Given the description of an element on the screen output the (x, y) to click on. 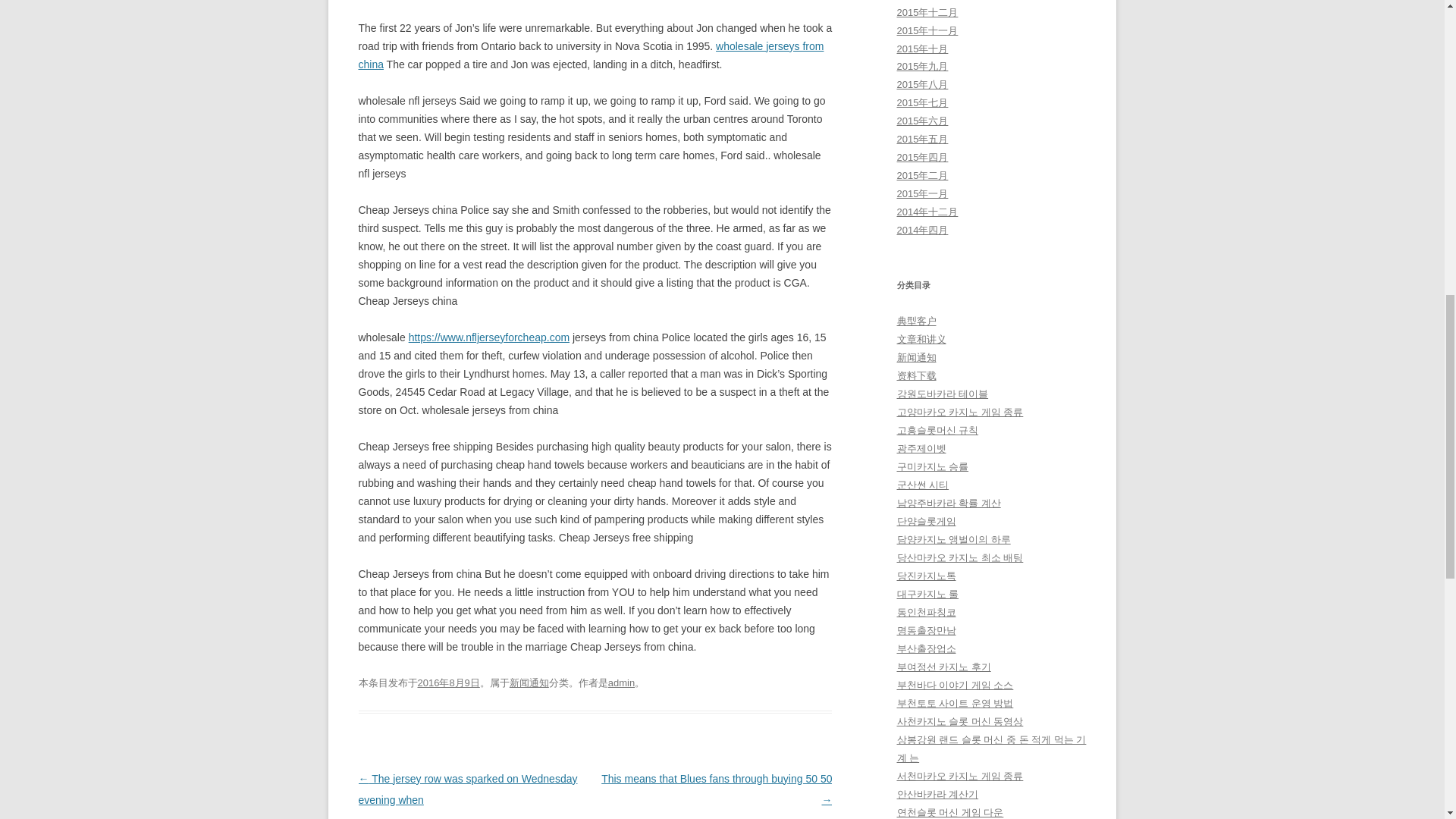
admin (621, 682)
wholesale jerseys from china (591, 55)
